Given the description of an element on the screen output the (x, y) to click on. 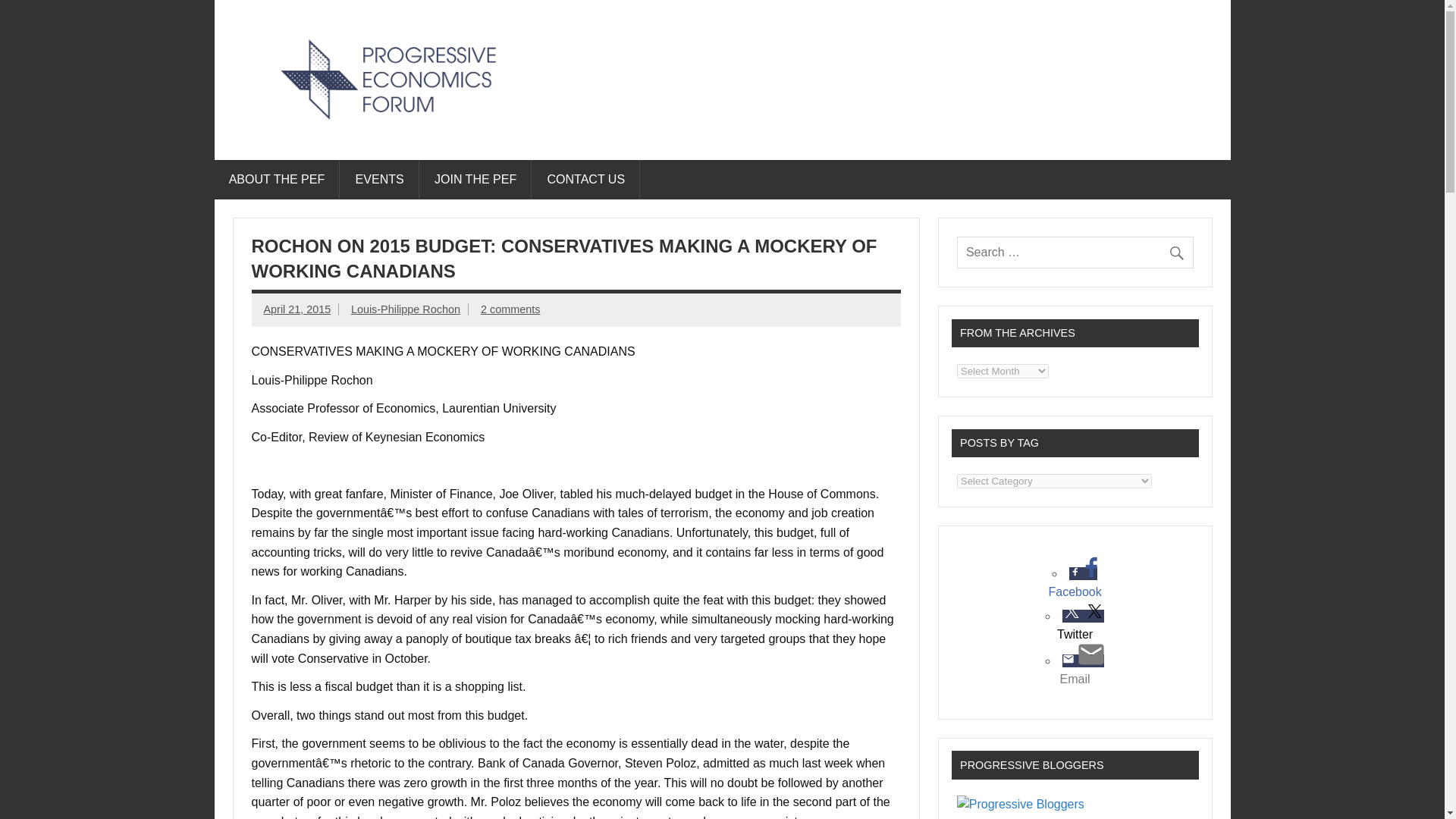
2 comments (510, 309)
CONTACT US (586, 179)
Facebook (1074, 592)
April 21, 2015 (297, 309)
EVENTS (379, 179)
5:01 pm (297, 309)
Email (1074, 679)
View all posts by Louis-Philippe Rochon (405, 309)
Twitter (1074, 634)
The Progressive Economics Forum (504, 138)
